Given the description of an element on the screen output the (x, y) to click on. 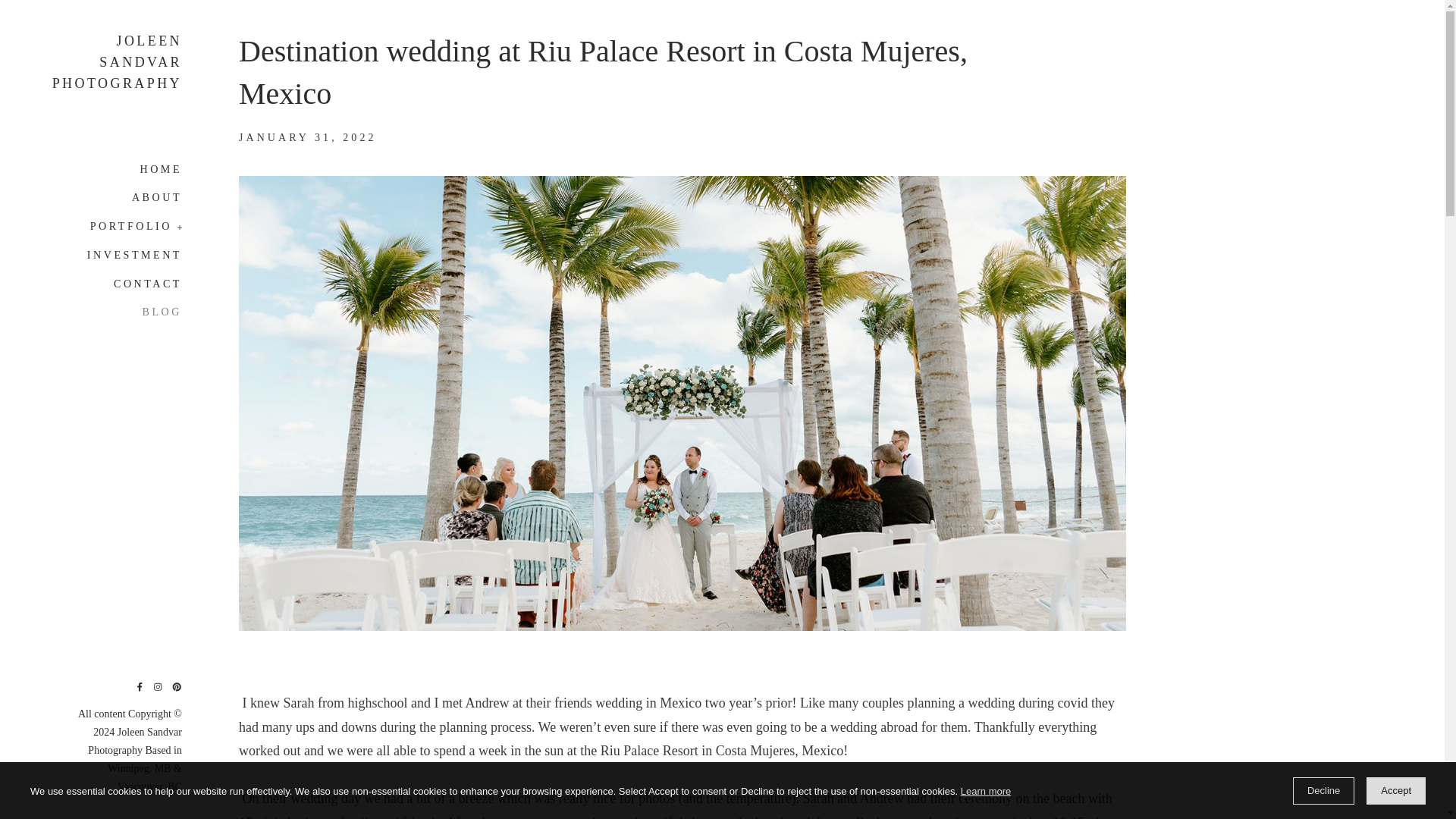
Decline (1323, 790)
Accept (1396, 790)
CONTACT (147, 283)
PORTFOLIO (136, 225)
HOME (160, 172)
BLOG (162, 307)
Learn more (985, 791)
JOLEEN SANDVAR PHOTOGRAPHY (113, 62)
ABOUT (157, 196)
INVESTMENT (134, 254)
